Given the description of an element on the screen output the (x, y) to click on. 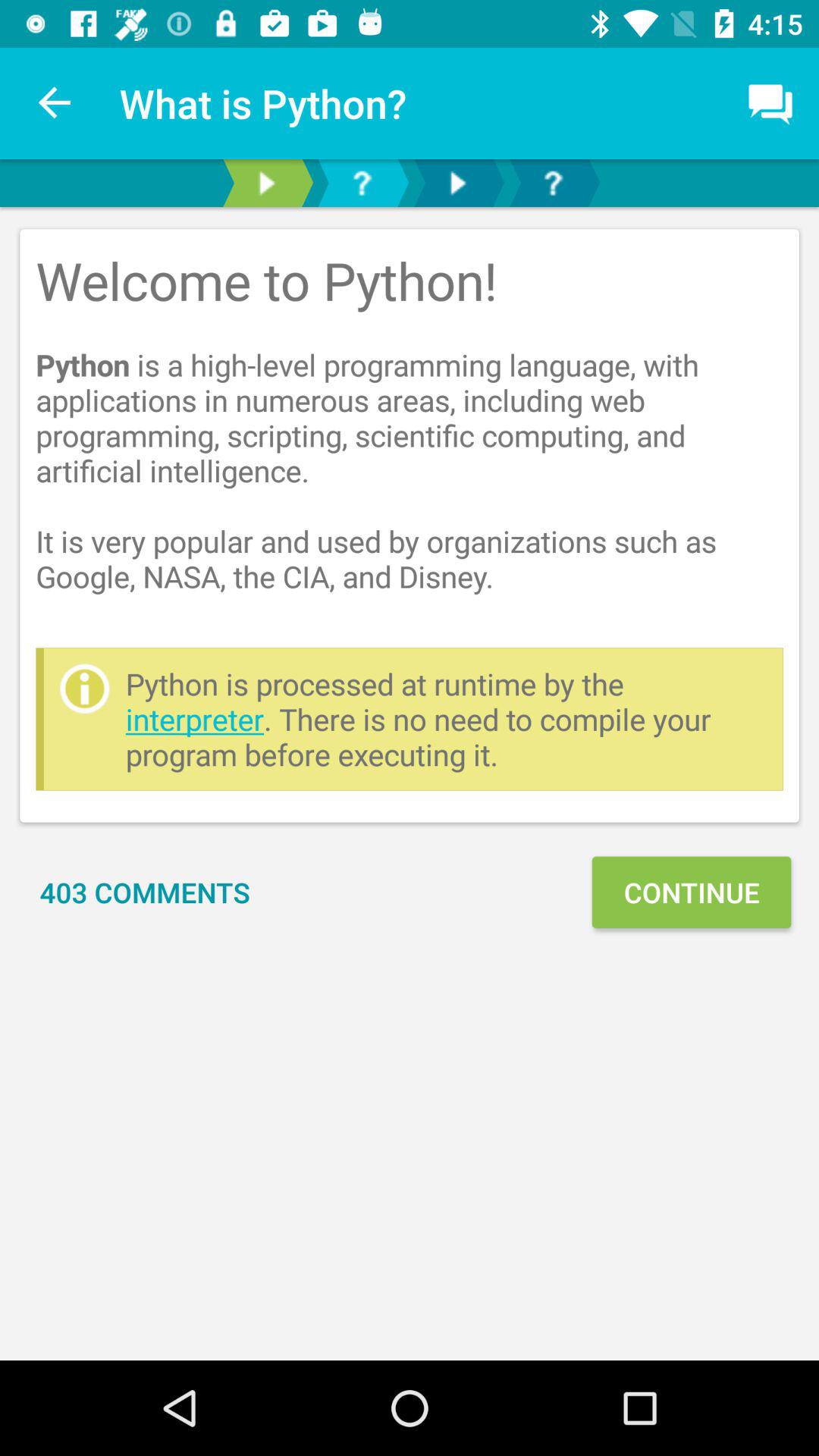
click to proceed further (457, 183)
